Given the description of an element on the screen output the (x, y) to click on. 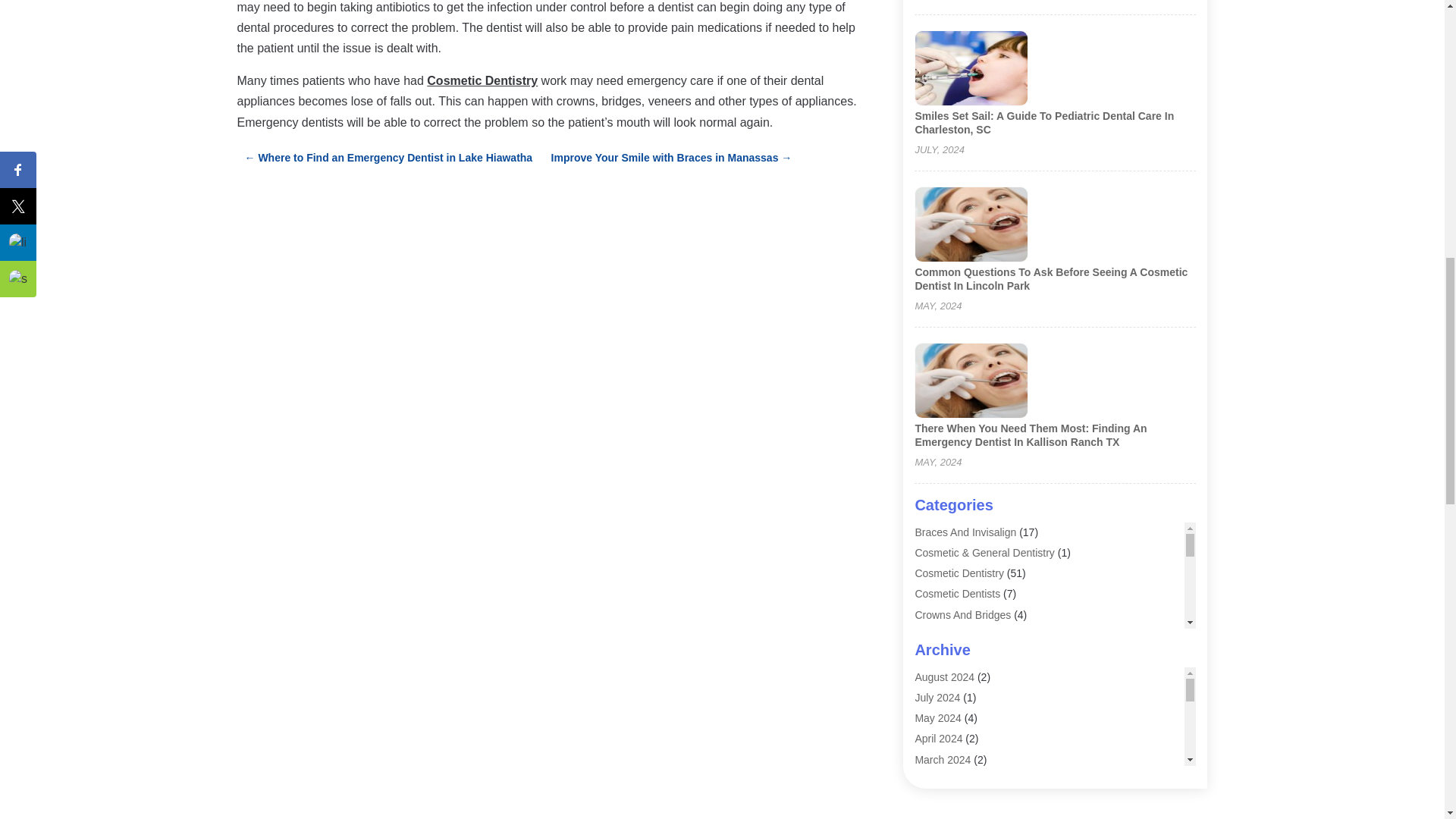
Dental Emergency (957, 655)
Crowns And Bridges (962, 614)
Braces And Invisalign (965, 532)
Dental Services (951, 717)
Dental Caries (946, 635)
Cosmetic Dentistry (958, 573)
Cosmetic Dentists (957, 593)
Dental Restoration (958, 696)
Dental Implants (951, 676)
